Given the description of an element on the screen output the (x, y) to click on. 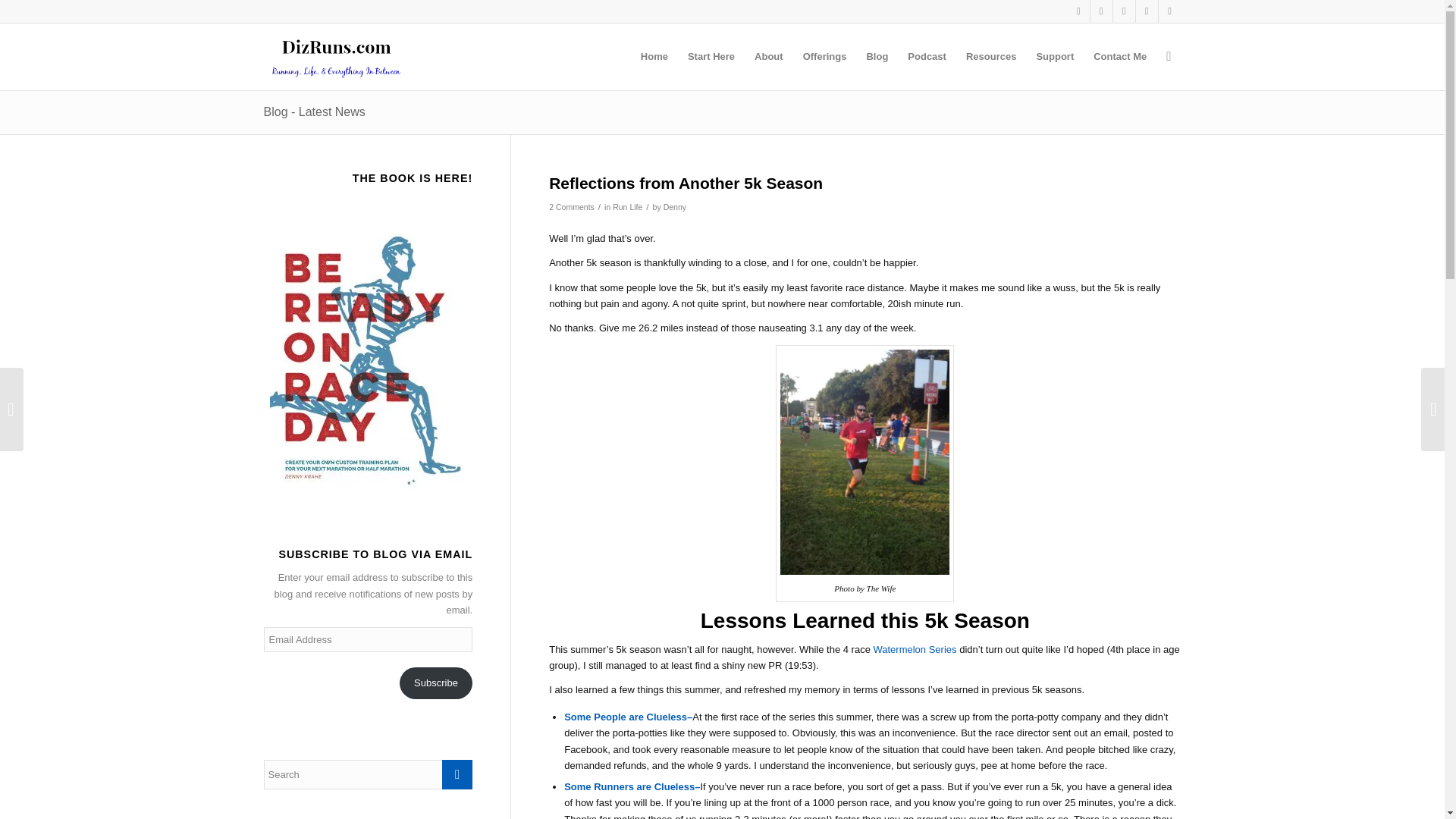
Pinterest (1124, 11)
2 Comments (571, 206)
Watermelon Series (914, 649)
Blog (877, 56)
Start Here (711, 56)
Posts by Denny (674, 206)
About (768, 56)
Contact Me (1119, 56)
Logo Trans (336, 56)
Denny (674, 206)
Offerings (825, 56)
Support (1054, 56)
Rss (1169, 11)
Permanent Link: Blog - Latest News (314, 111)
Home (654, 56)
